Given the description of an element on the screen output the (x, y) to click on. 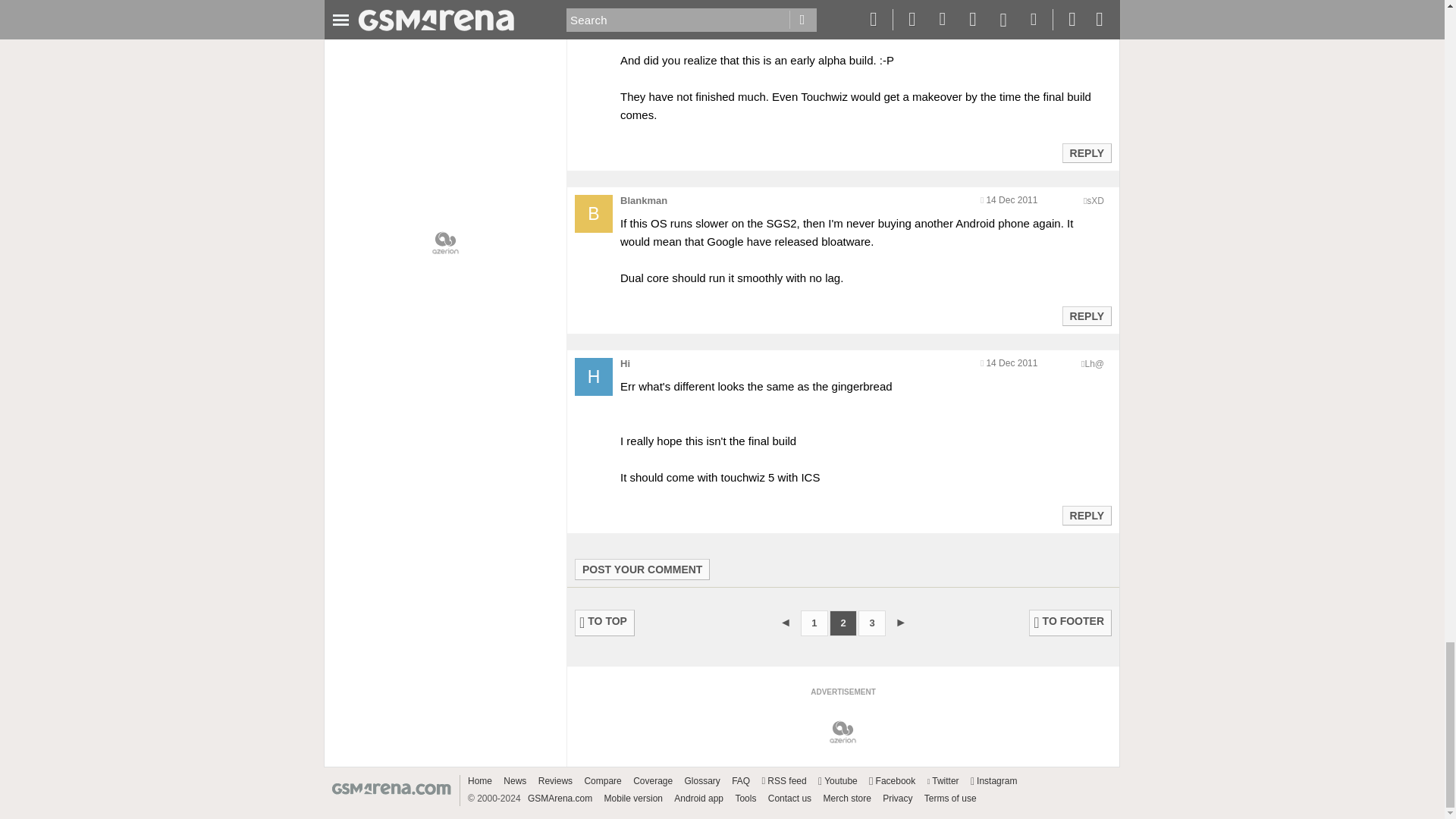
TO TOP (604, 622)
